Given the description of an element on the screen output the (x, y) to click on. 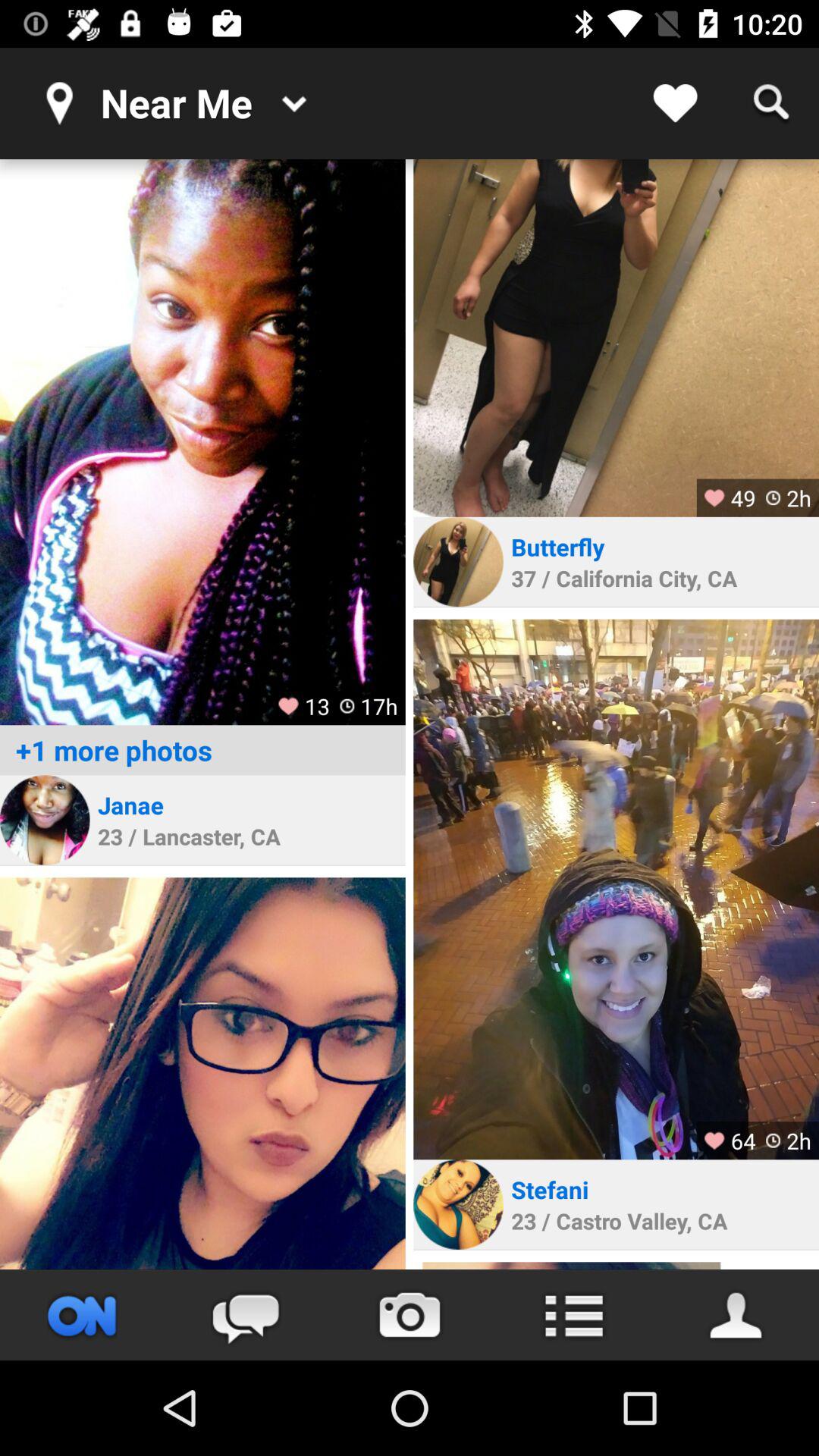
view picture (202, 442)
